Given the description of an element on the screen output the (x, y) to click on. 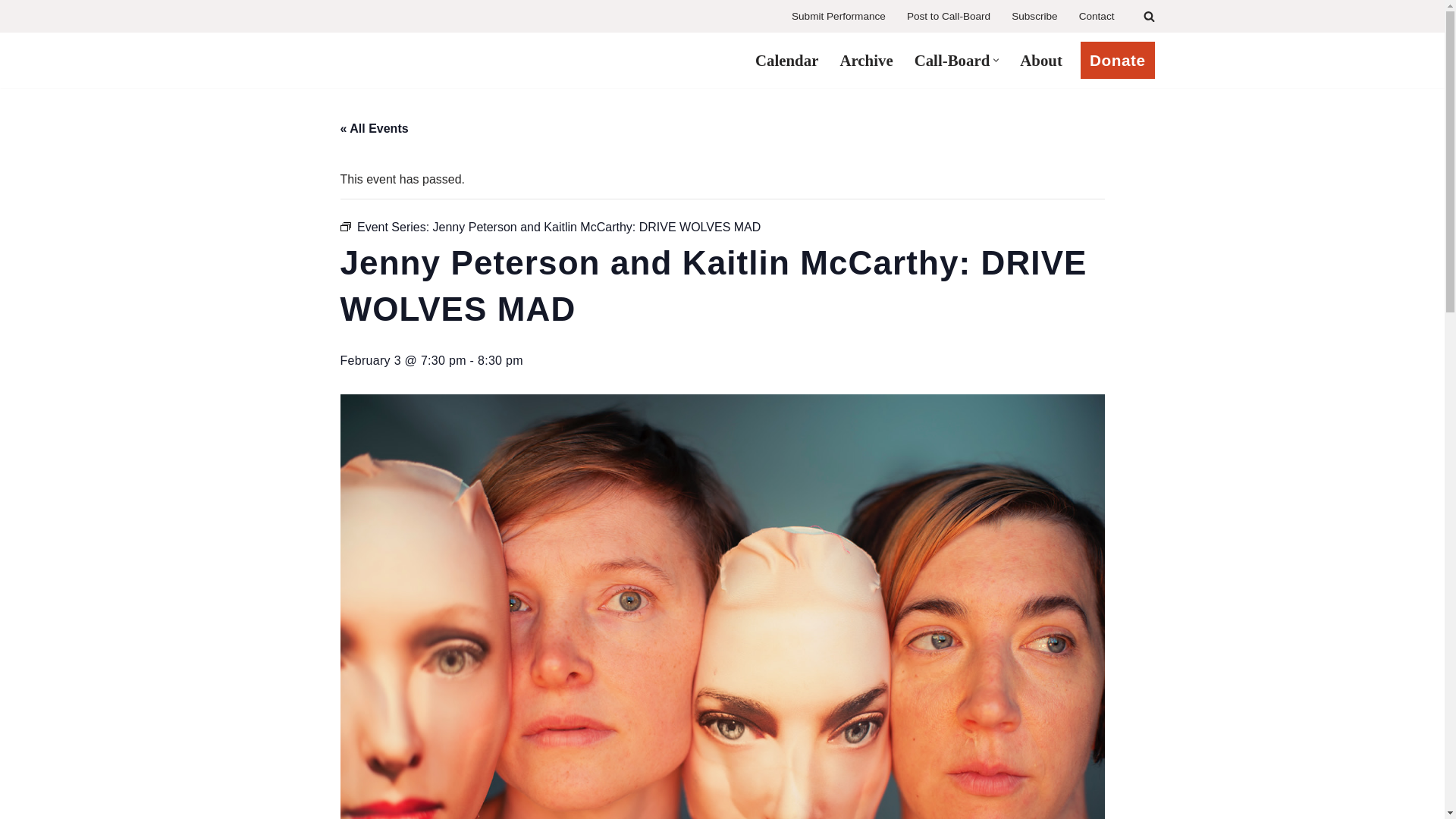
Event Series (344, 225)
Archive (866, 59)
Submit Performance (838, 16)
Skip to content (11, 31)
Subscribe (1034, 16)
Call-Board (952, 59)
Contact (1096, 16)
About (1041, 59)
Post to Call-Board (948, 16)
Calendar (786, 59)
